Given the description of an element on the screen output the (x, y) to click on. 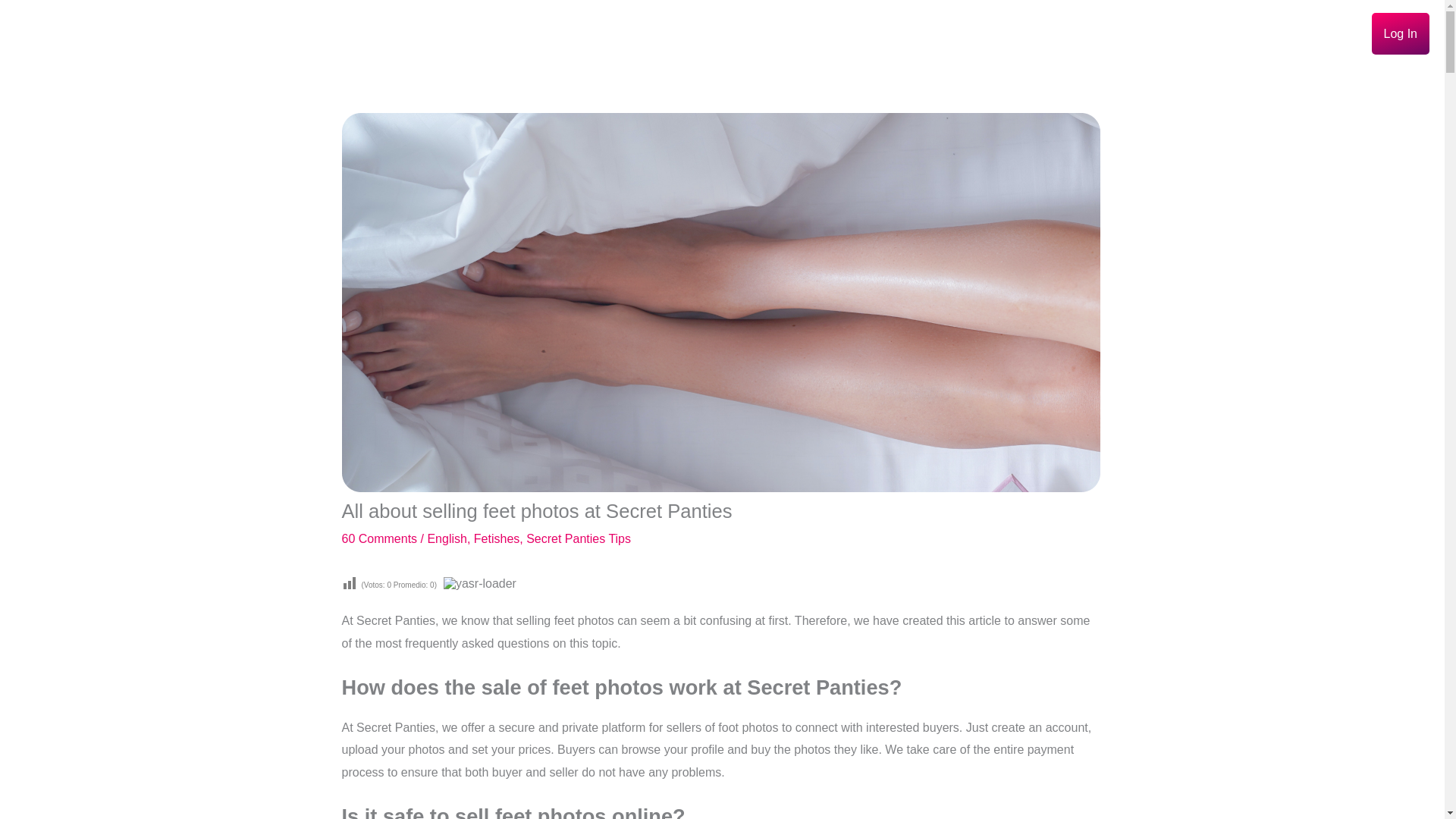
English (445, 538)
Secret Panties Tips (577, 538)
English (1331, 33)
Fetishes (496, 538)
Blog (1198, 33)
yasr-loader (480, 583)
Tutorials (1257, 33)
Log In (1400, 33)
60 Comments (378, 538)
